Given the description of an element on the screen output the (x, y) to click on. 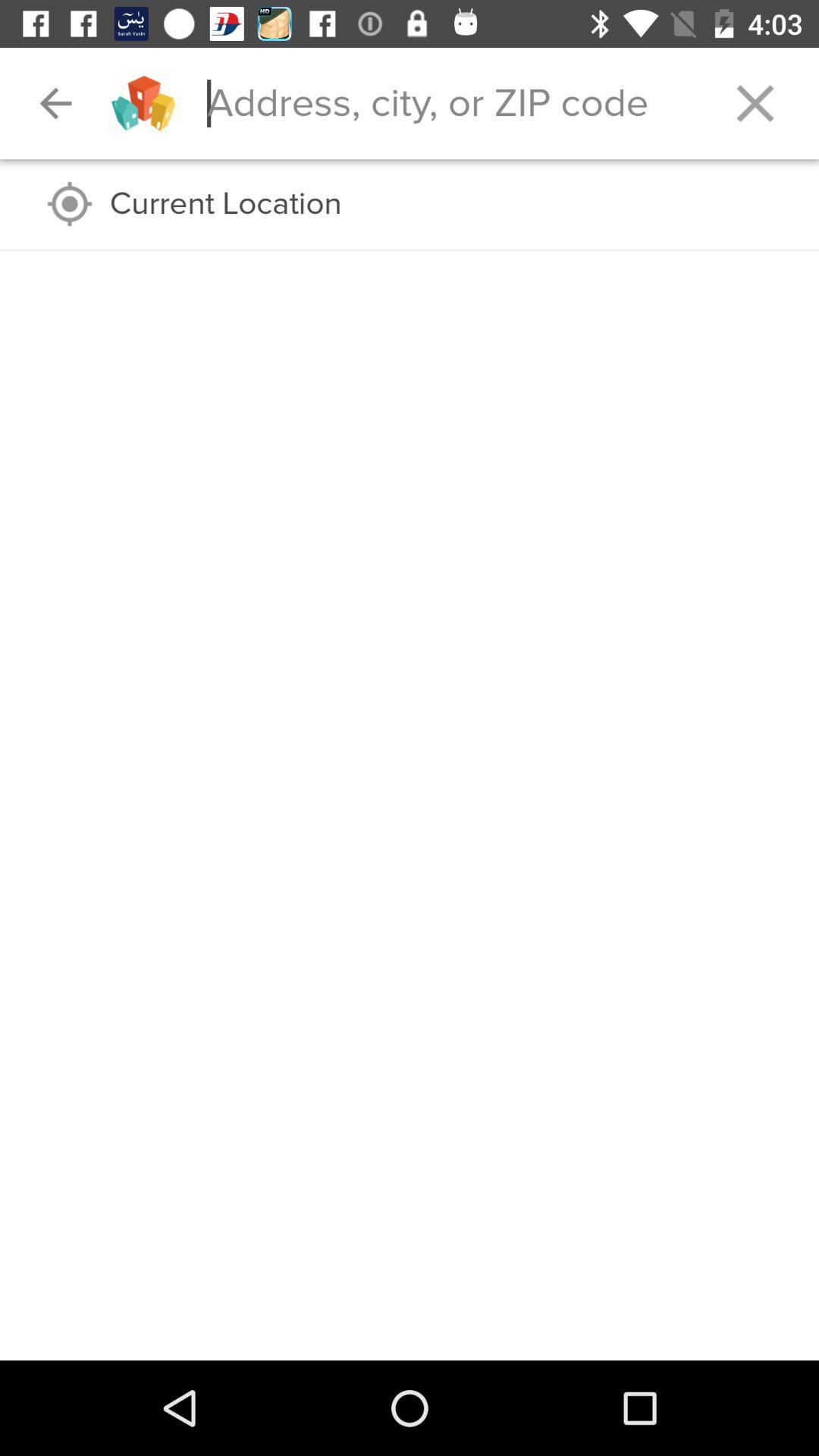
enter and search for typed information (449, 103)
